Given the description of an element on the screen output the (x, y) to click on. 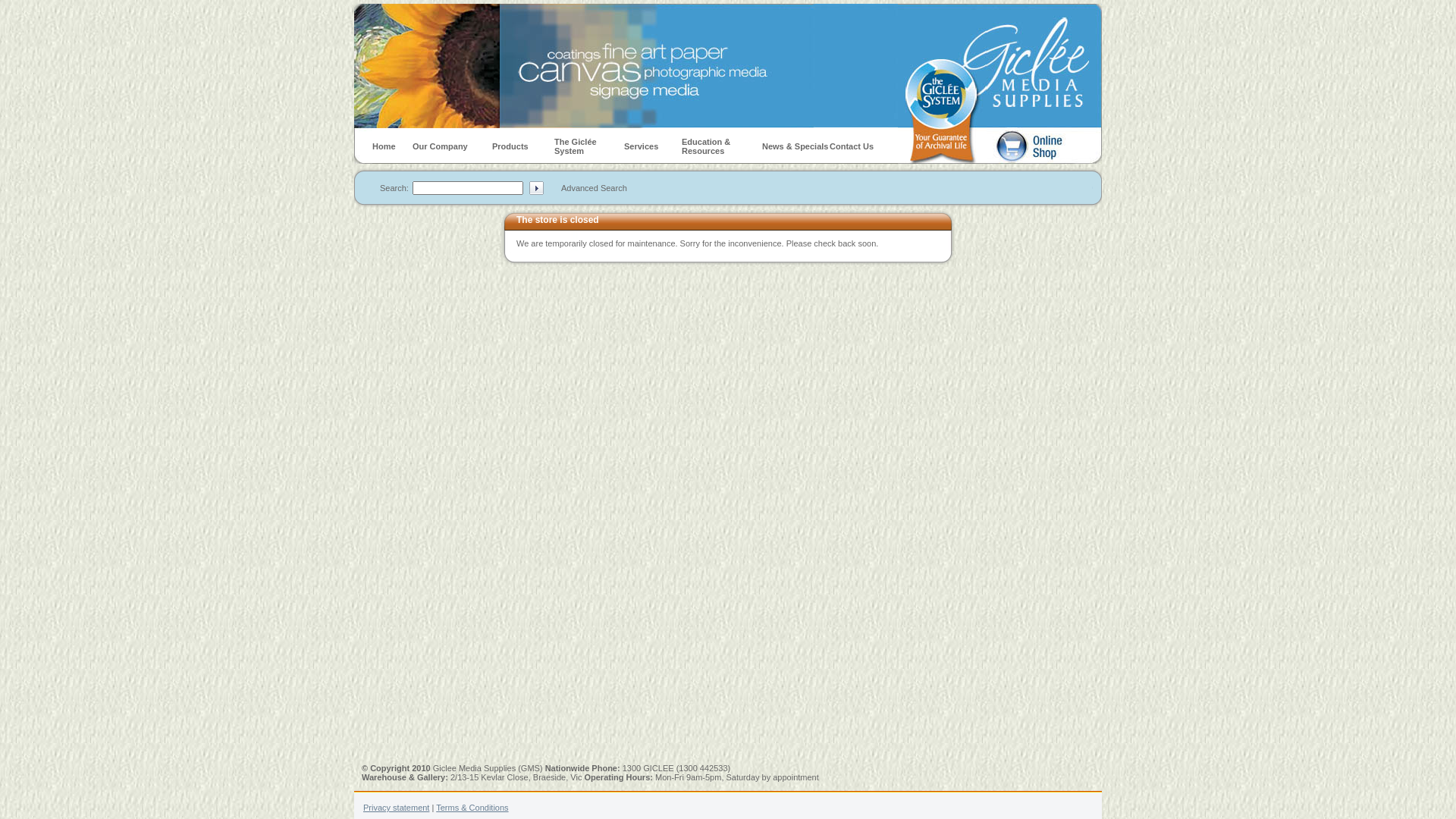
Our Company Element type: text (439, 145)
Terms & Conditions Element type: text (472, 807)
Education & Resources Element type: text (705, 146)
Contact Us Element type: text (851, 145)
Home Element type: text (383, 145)
Services Element type: text (641, 145)
Privacy statement Element type: text (396, 807)
News & Specials Element type: text (795, 145)
Products Element type: text (510, 145)
Advanced Search Element type: text (594, 187)
